Given the description of an element on the screen output the (x, y) to click on. 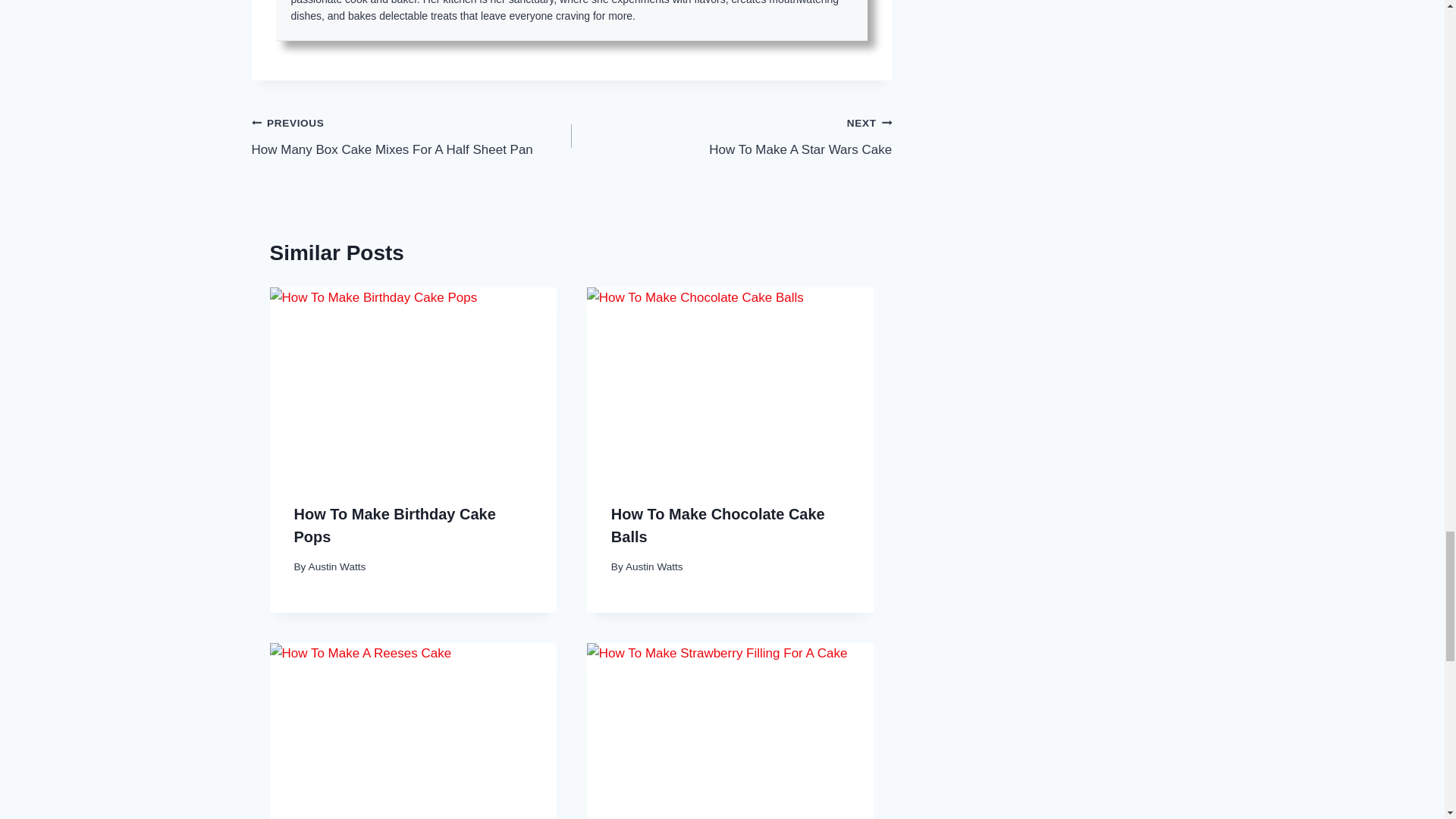
Austin Watts (337, 566)
How To Make Chocolate Cake Balls (718, 525)
Austin Watts (731, 135)
How To Make Birthday Cake Pops (654, 566)
